Given the description of an element on the screen output the (x, y) to click on. 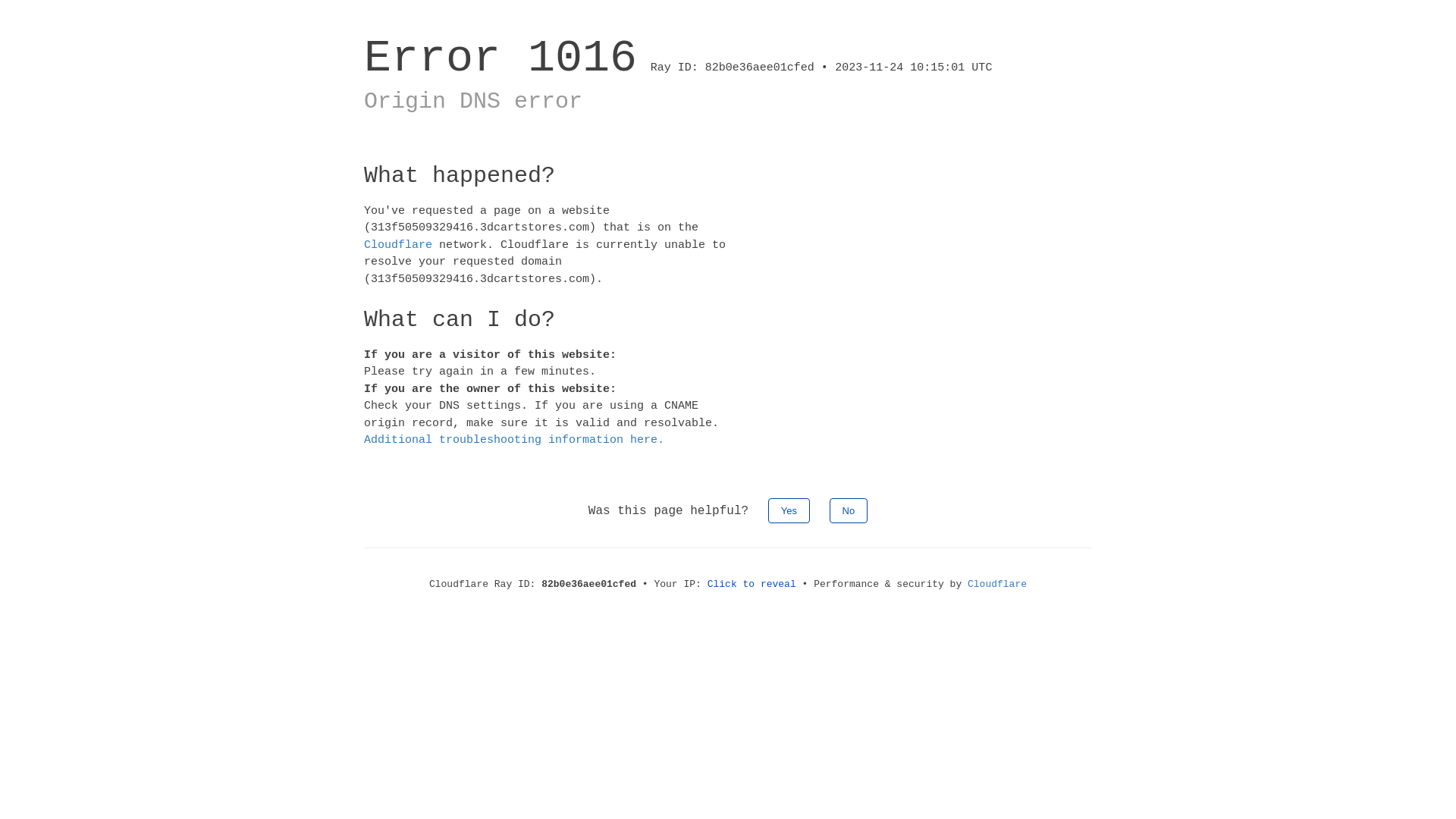
Click to reveal Element type: text (751, 583)
Cloudflare Element type: text (996, 583)
Cloudflare Element type: text (398, 244)
Yes Element type: text (788, 509)
Additional troubleshooting information here. Element type: text (514, 439)
No Element type: text (848, 509)
